Given the description of an element on the screen output the (x, y) to click on. 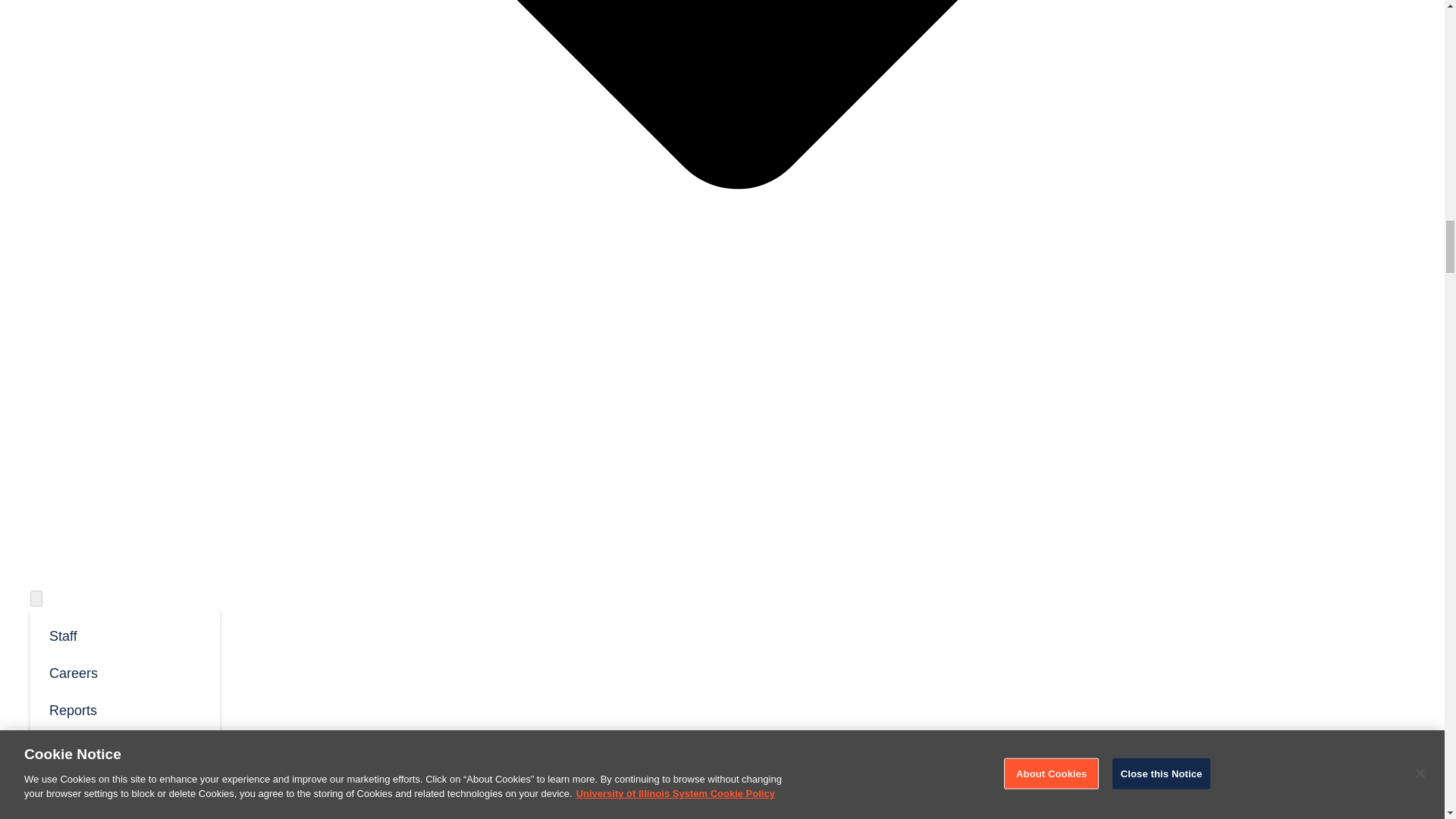
Extension Council (125, 746)
Local Programs (77, 795)
Reports (125, 709)
Staff (125, 634)
Careers (125, 672)
